Given the description of an element on the screen output the (x, y) to click on. 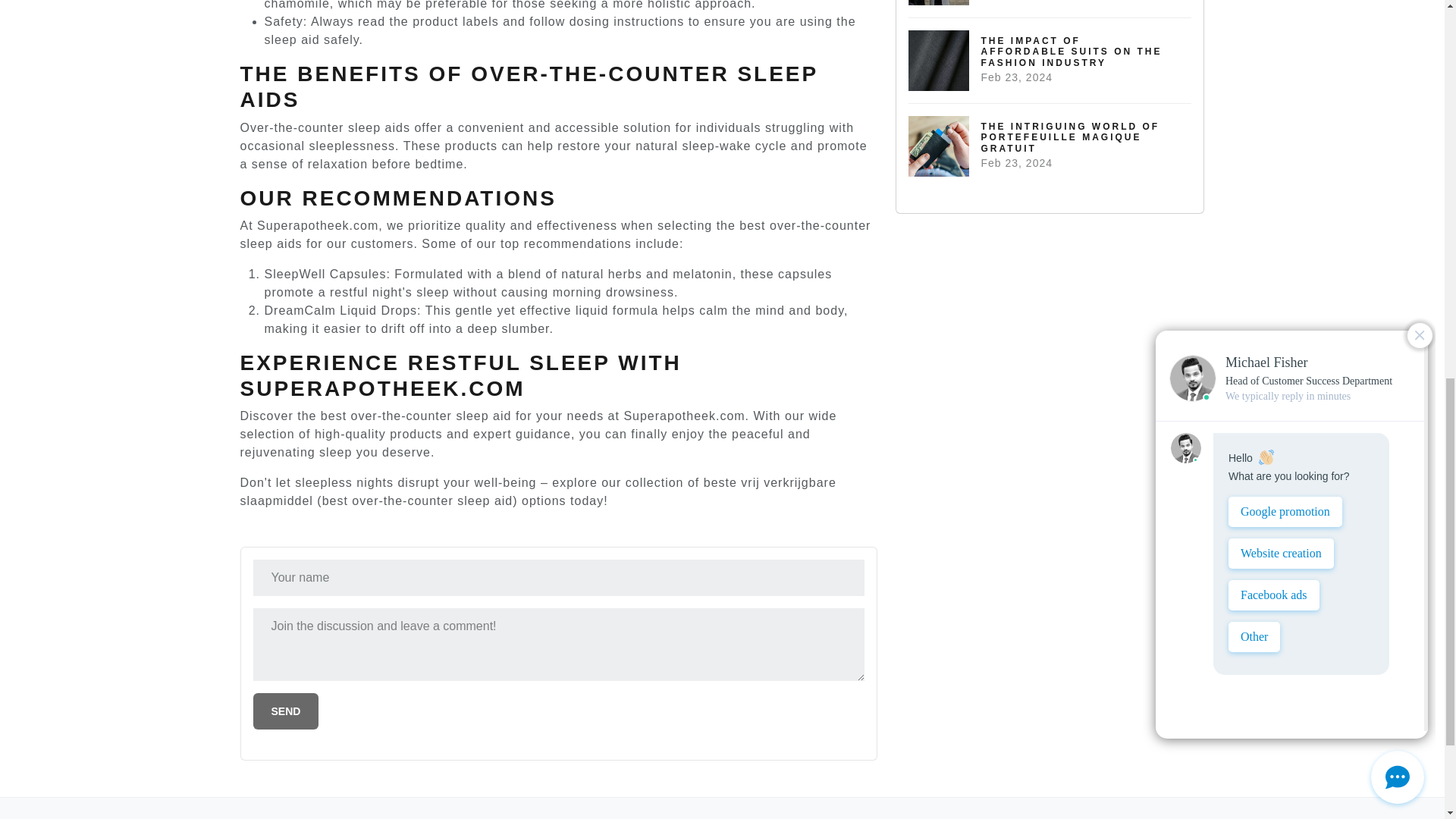
Send (285, 710)
Send (285, 710)
